Given the description of an element on the screen output the (x, y) to click on. 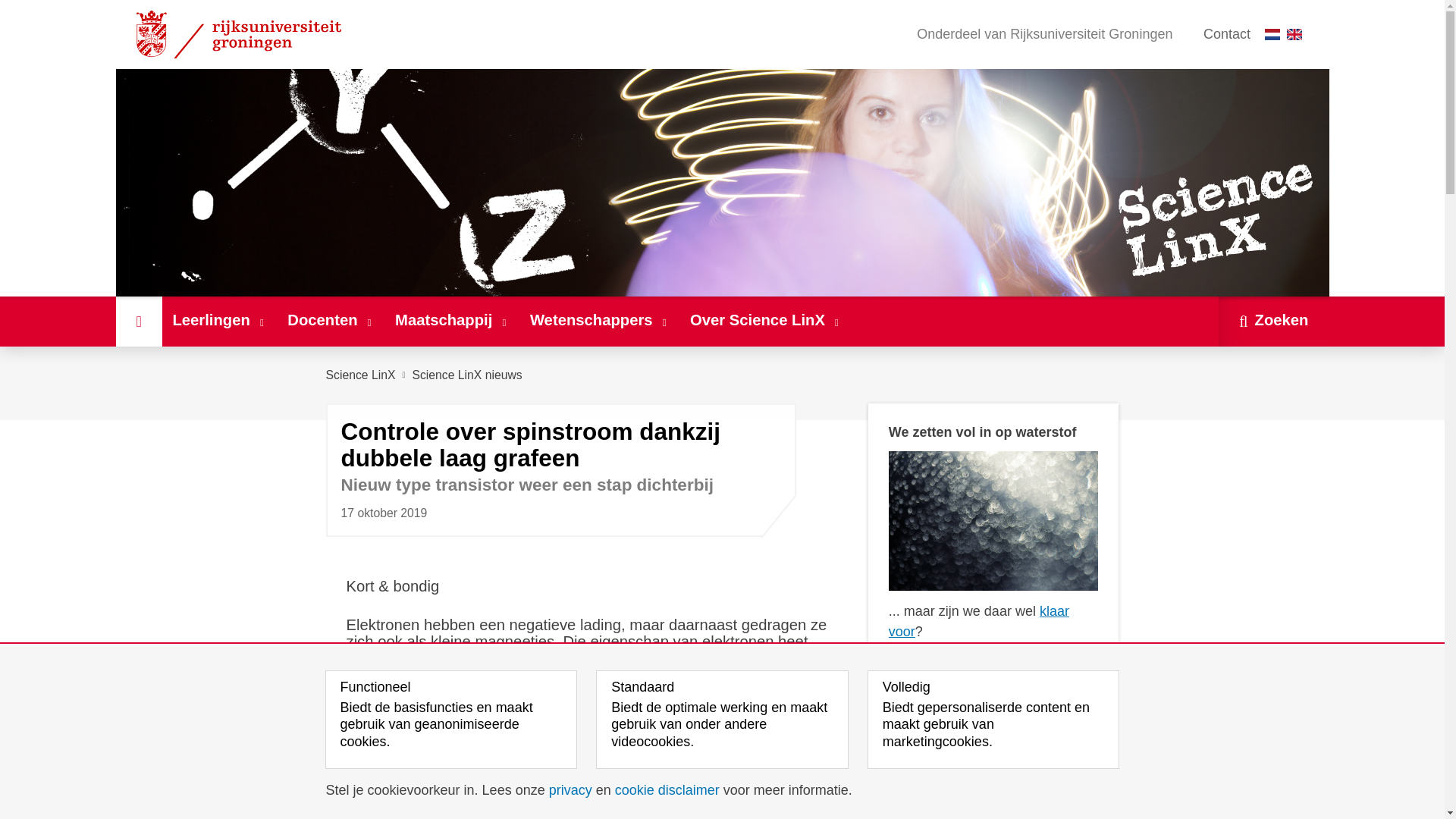
Leerlingen (219, 321)
Home (138, 321)
Nederlands (1272, 33)
Maatschappij (452, 321)
English (1293, 33)
Taal selectie (1286, 34)
Contact (1226, 34)
Over Science LinX (765, 321)
Wetenschappers (599, 321)
Docenten (331, 321)
